Given the description of an element on the screen output the (x, y) to click on. 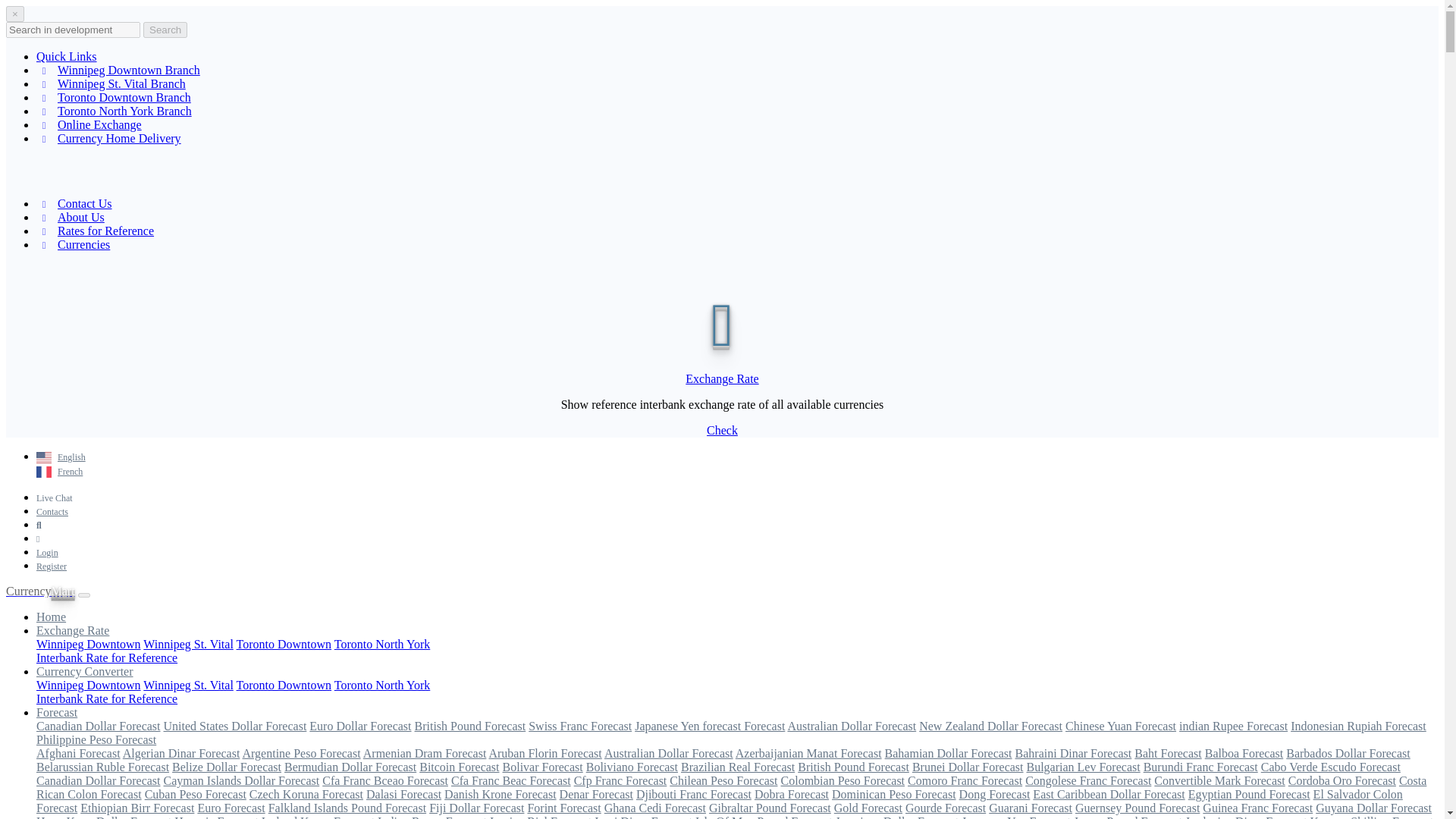
Winnipeg Downtown Branch (118, 69)
French (59, 471)
Home (50, 616)
About Us (70, 216)
CurrencyMart (40, 590)
Quick Links (66, 56)
Login (47, 552)
Toronto North York (381, 644)
Winnipeg St. Vital (187, 644)
Toronto North York (381, 684)
